Given the description of an element on the screen output the (x, y) to click on. 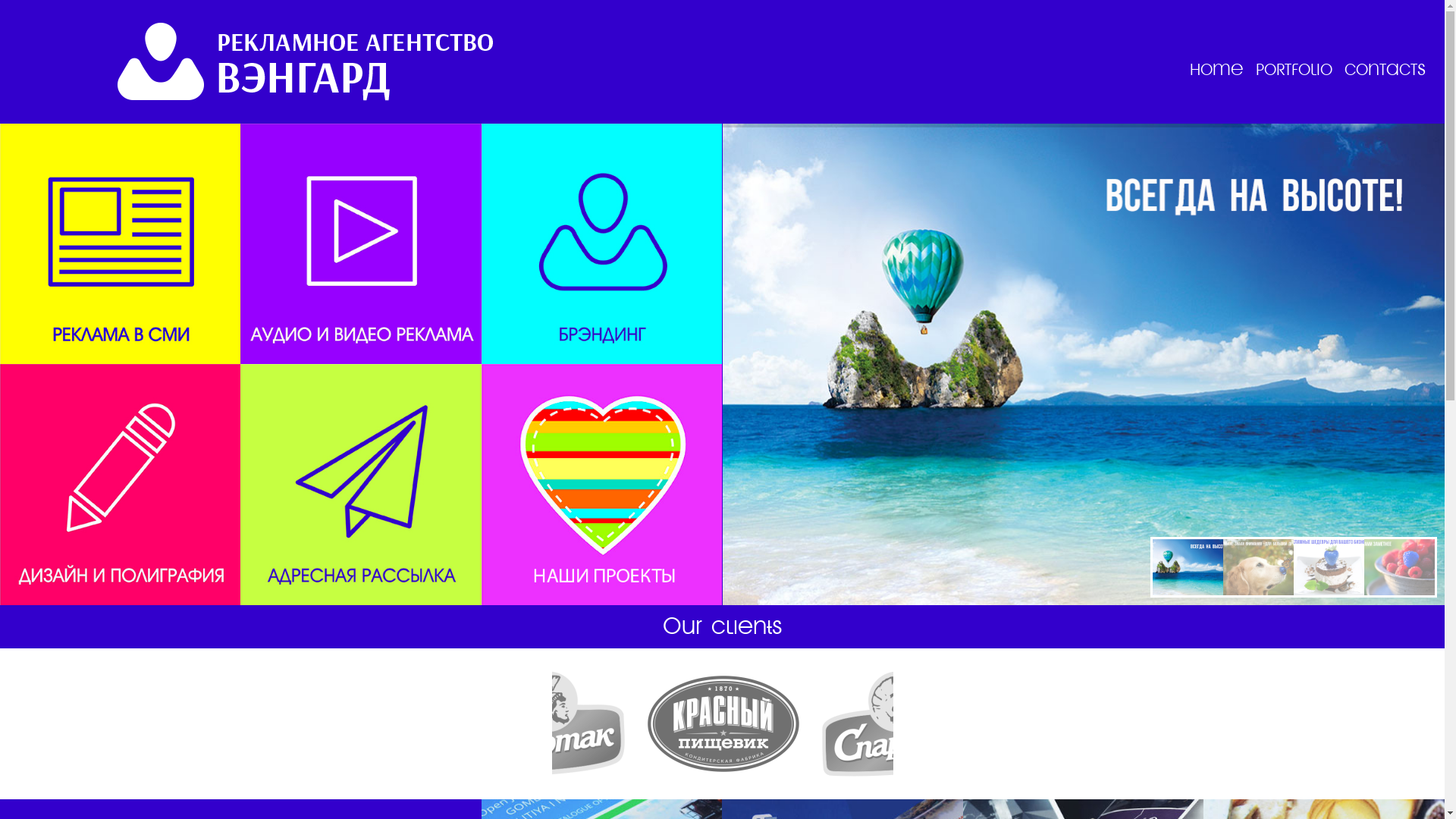
Spartak Element type: hover (548, 723)
Spartak Element type: hover (897, 723)
HOME Element type: text (1216, 69)
Red pischevik Element type: hover (723, 723)
PORTFOLIO Element type: text (1293, 69)
CONTACTS Element type: text (1384, 69)
